Given the description of an element on the screen output the (x, y) to click on. 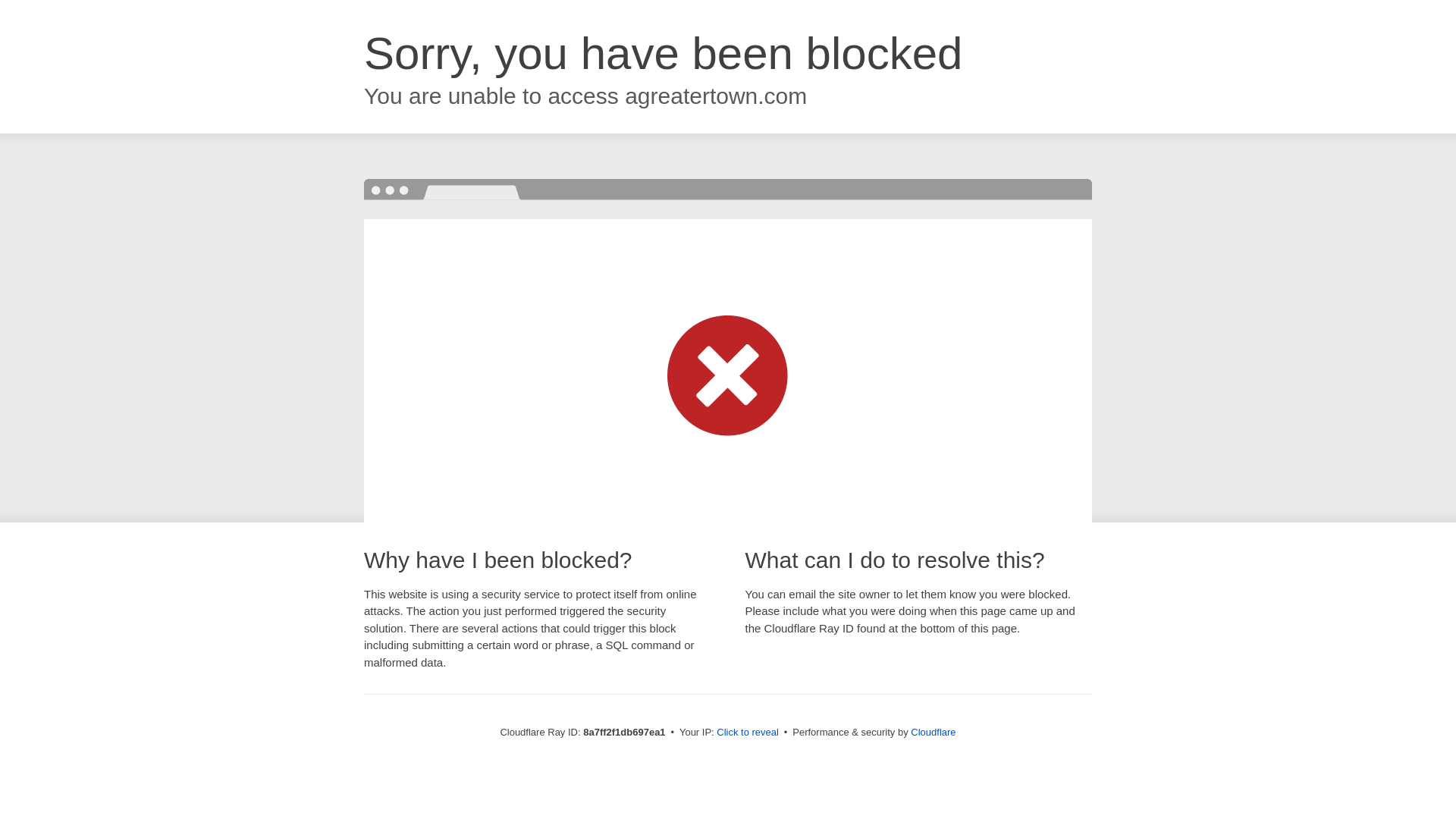
Click to reveal (747, 732)
Cloudflare (933, 731)
